Given the description of an element on the screen output the (x, y) to click on. 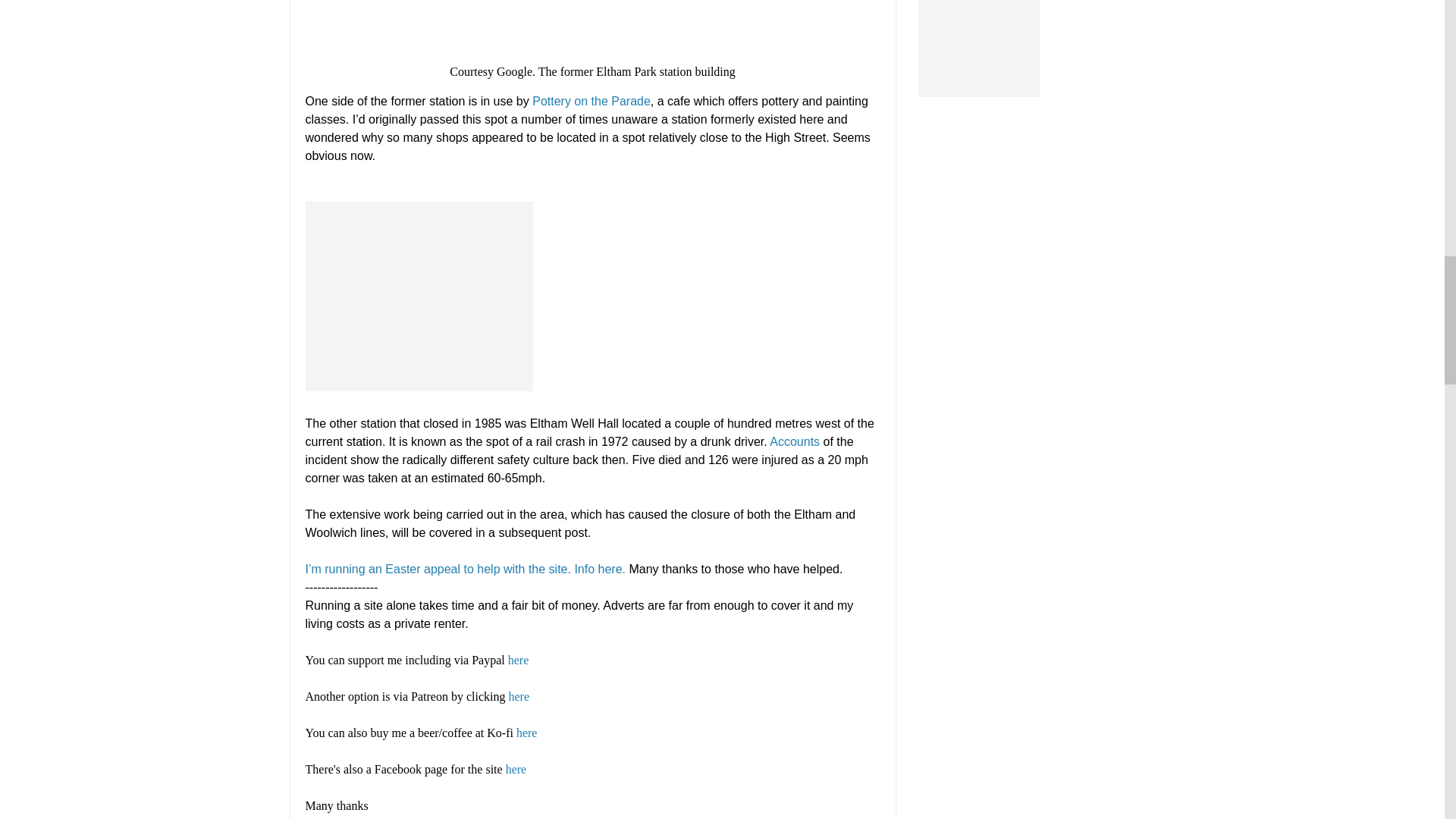
Accounts (794, 440)
here (518, 696)
here (516, 768)
here (526, 732)
Pottery on the Parade (591, 101)
here (518, 659)
